Given the description of an element on the screen output the (x, y) to click on. 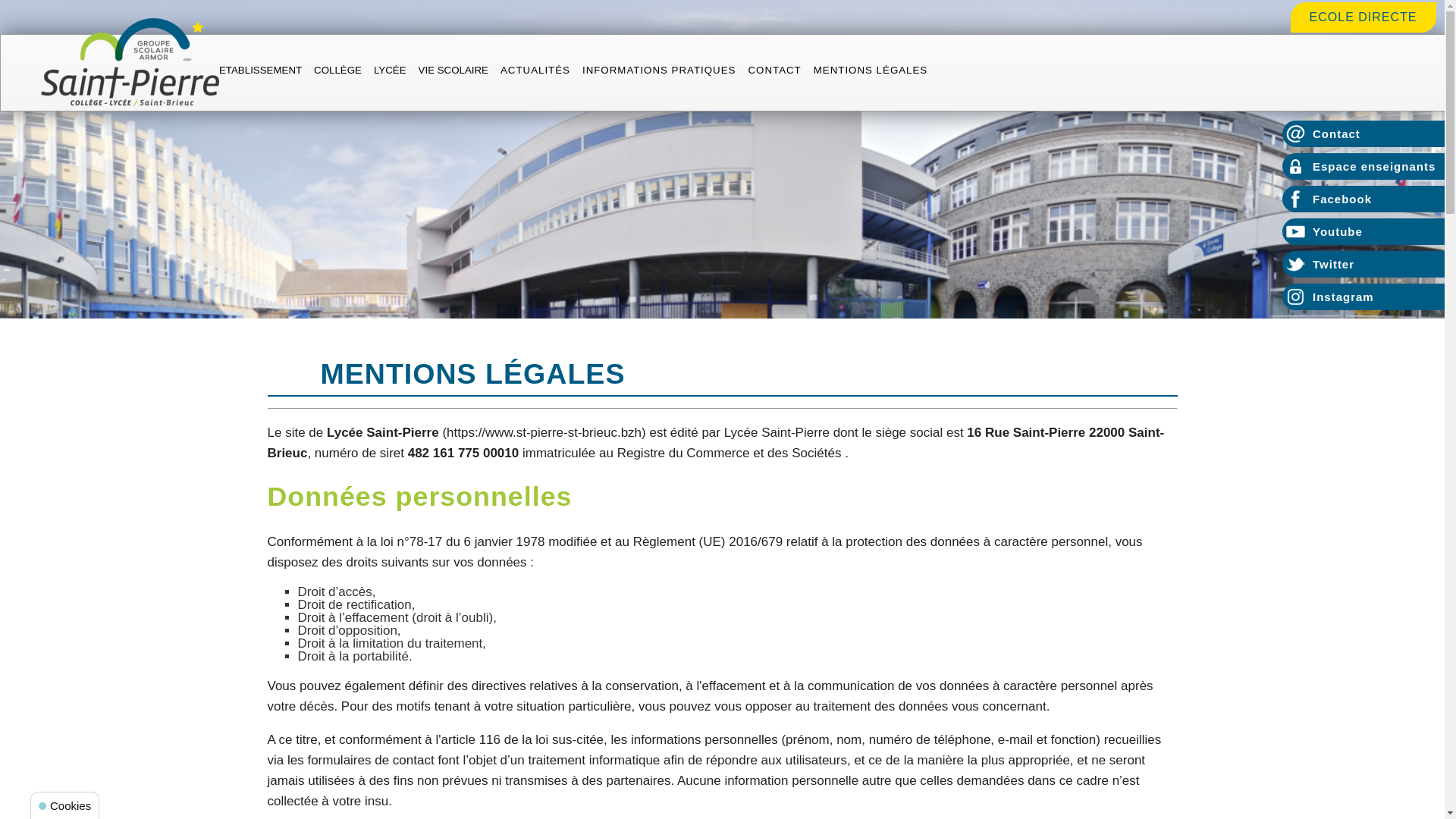
INFORMATIONS PRATIQUES Element type: text (659, 72)
Twitter Element type: hover (1363, 264)
Espace enseignants Element type: hover (1363, 166)
CONTACT Element type: text (773, 72)
Instagram Element type: hover (1363, 296)
Facebook Element type: hover (1363, 198)
ECOLE DIRECTE Element type: text (1363, 16)
Youtube Element type: hover (1363, 231)
Contact Element type: hover (1363, 133)
